Given the description of an element on the screen output the (x, y) to click on. 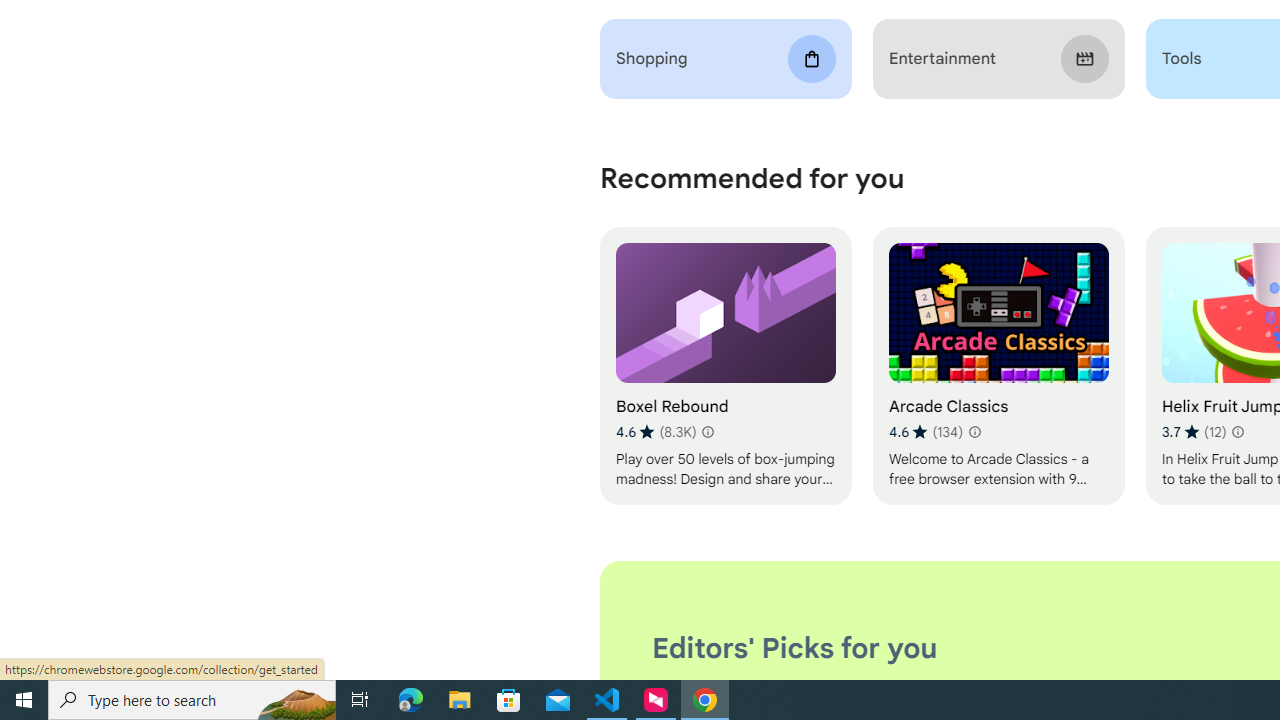
Arcade Classics (998, 366)
Average rating 4.6 out of 5 stars. 8.3K ratings. (655, 431)
Entertainment (998, 59)
Learn more about results and reviews "Boxel Rebound" (707, 431)
Average rating 4.6 out of 5 stars. 134 ratings. (925, 431)
Average rating 3.7 out of 5 stars. 12 ratings. (1193, 431)
Boxel Rebound (725, 366)
Learn more about results and reviews "Arcade Classics" (973, 431)
Shopping (725, 59)
